Given the description of an element on the screen output the (x, y) to click on. 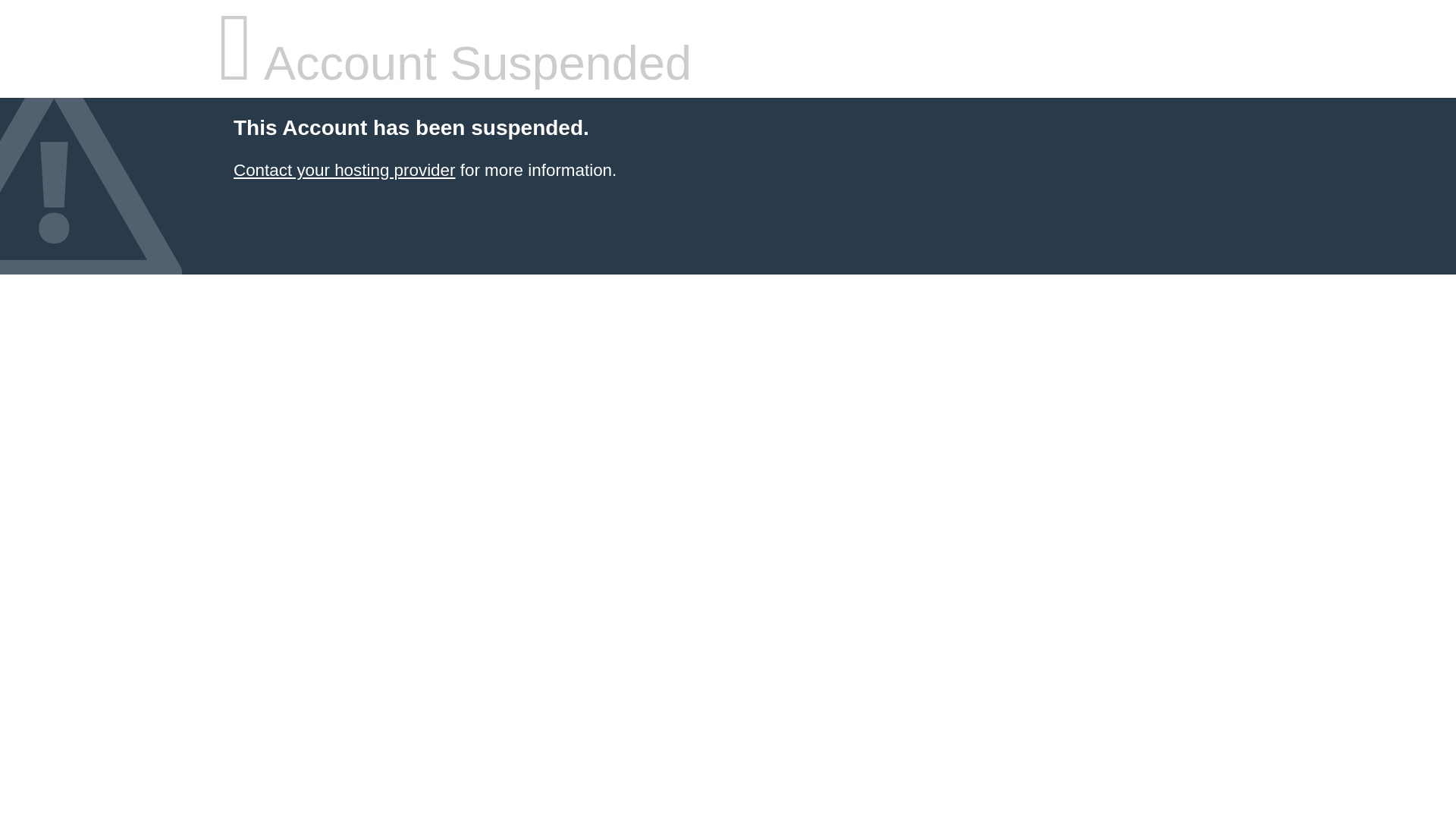
Contact your hosting provider (343, 169)
